Given the description of an element on the screen output the (x, y) to click on. 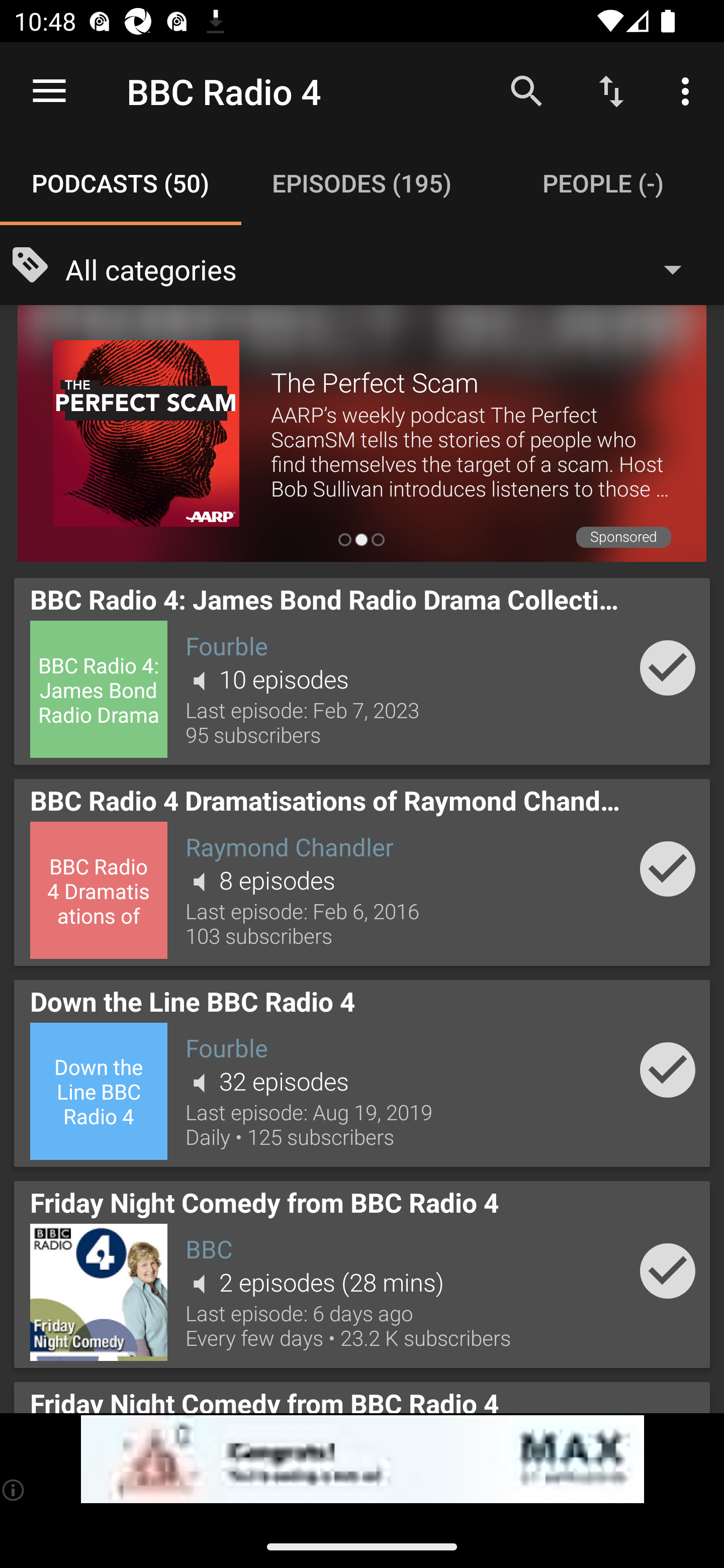
Open navigation sidebar (49, 91)
Search (526, 90)
Sort (611, 90)
More options (688, 90)
Episodes (195) EPISODES (195) (361, 183)
People (-) PEOPLE (-) (603, 183)
All categories (383, 268)
Add (667, 667)
Add (667, 868)
Add (667, 1069)
Add (667, 1271)
app-monetization (362, 1459)
(i) (14, 1489)
